Given the description of an element on the screen output the (x, y) to click on. 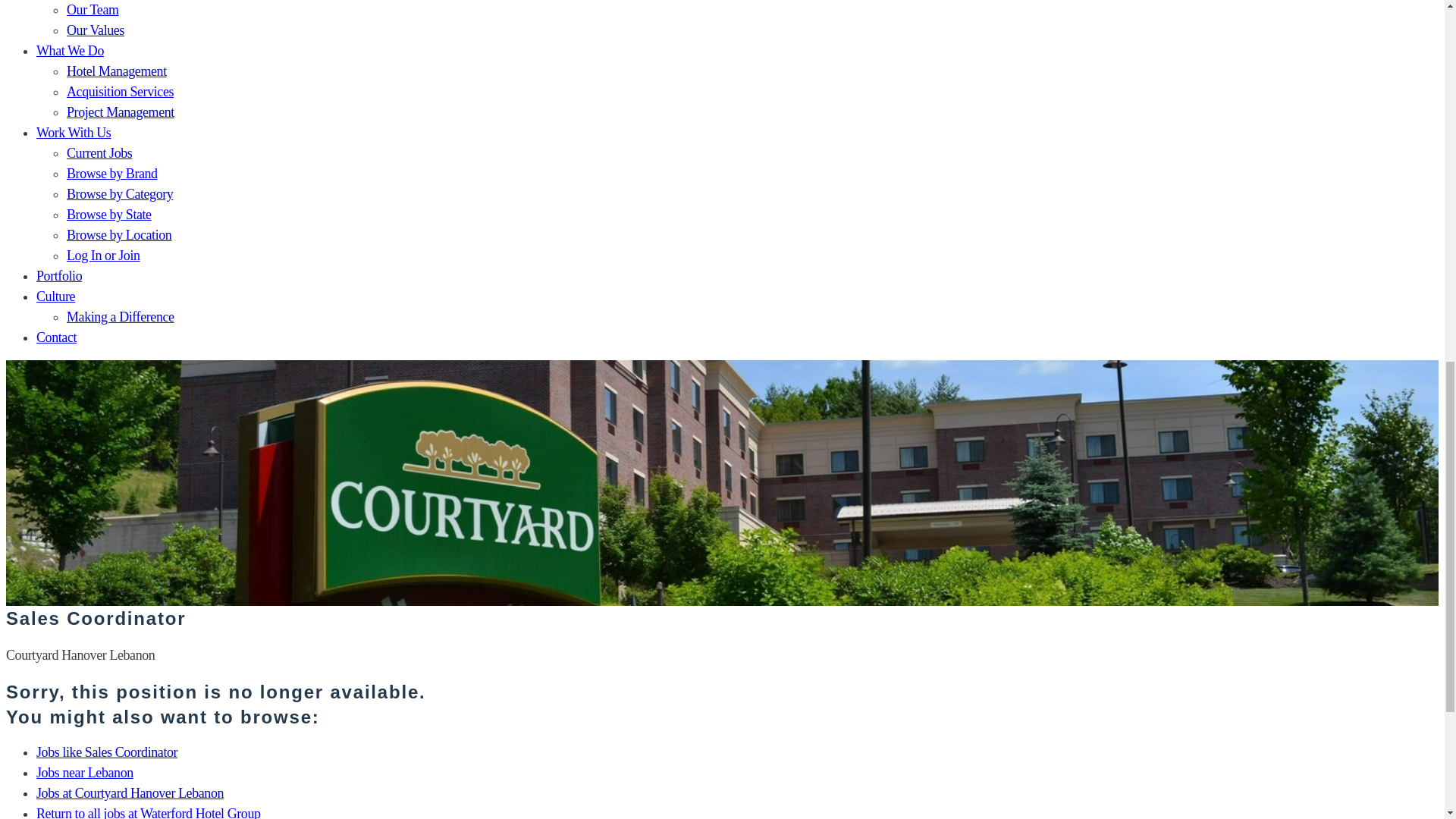
Our Values (94, 29)
Our Team (92, 9)
